Given the description of an element on the screen output the (x, y) to click on. 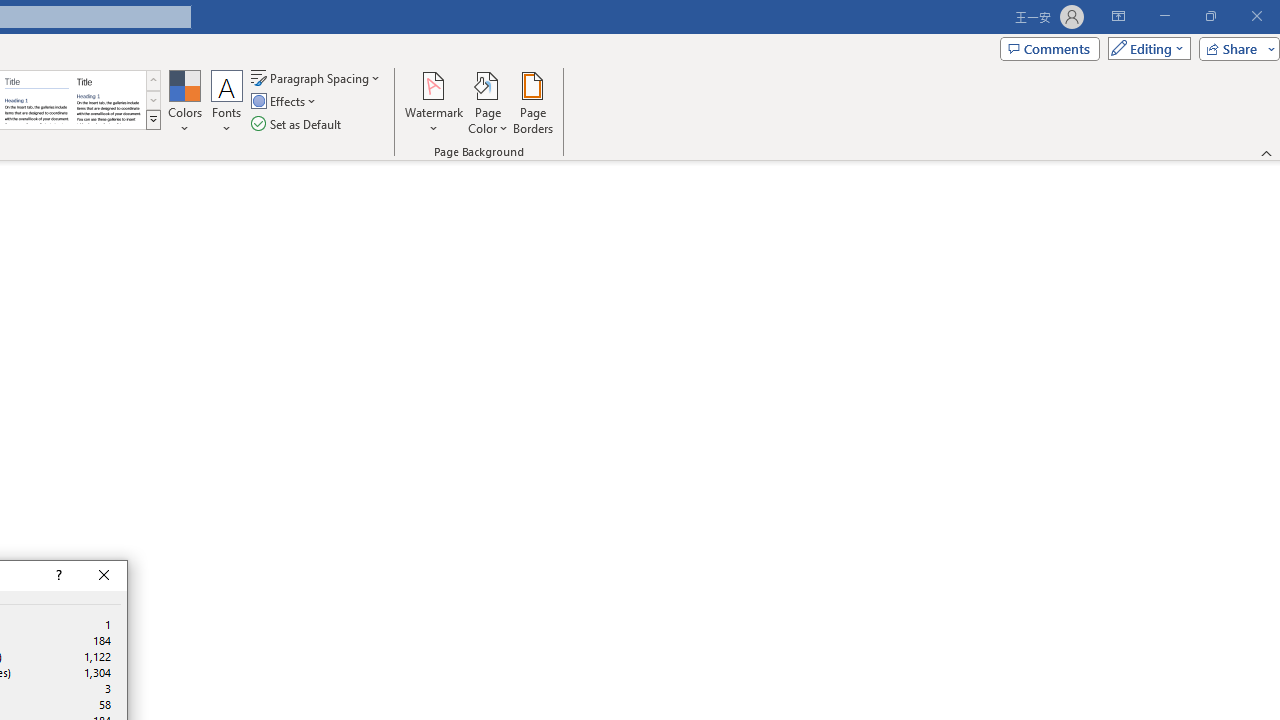
Page Borders... (532, 102)
Set as Default (298, 124)
Page Color (487, 102)
Context help (57, 575)
